Given the description of an element on the screen output the (x, y) to click on. 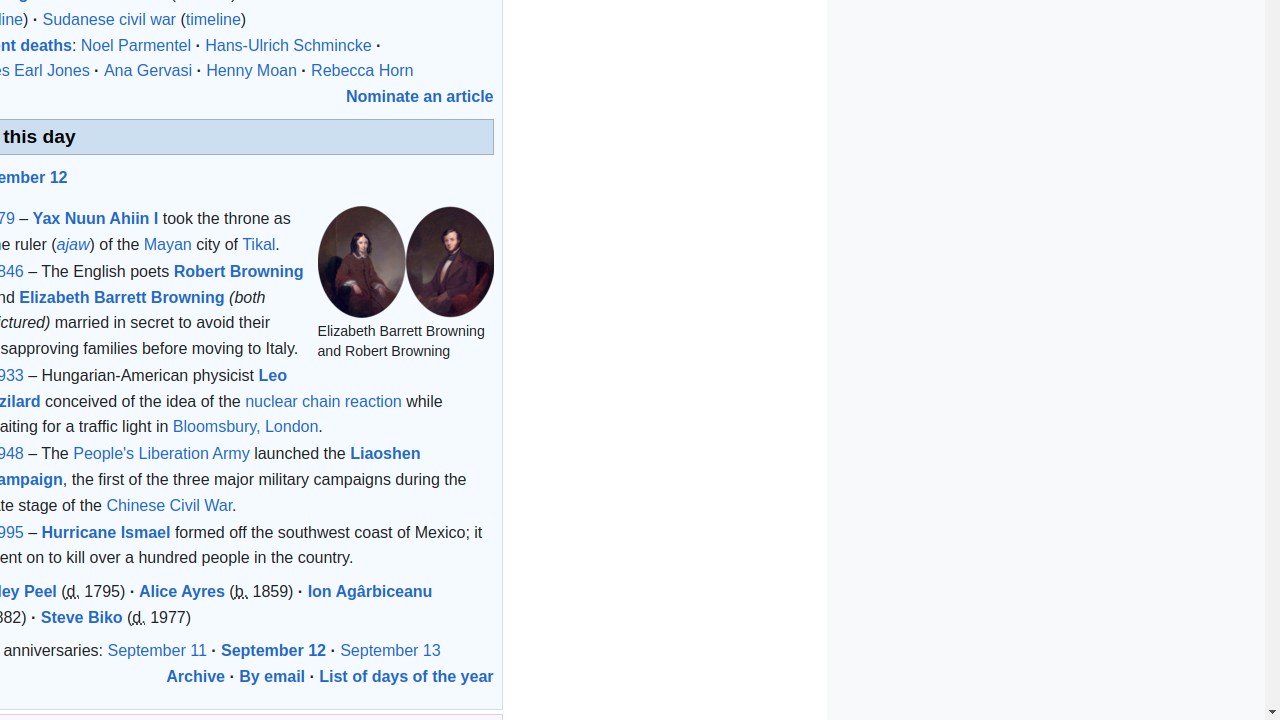
Robert Browning Element type: link (238, 272)
Henny Moan Element type: link (251, 71)
September 11 Element type: link (157, 651)
Sudanese civil war Element type: link (109, 20)
Yax Nuun Ahiin I Element type: link (95, 219)
